Given the description of an element on the screen output the (x, y) to click on. 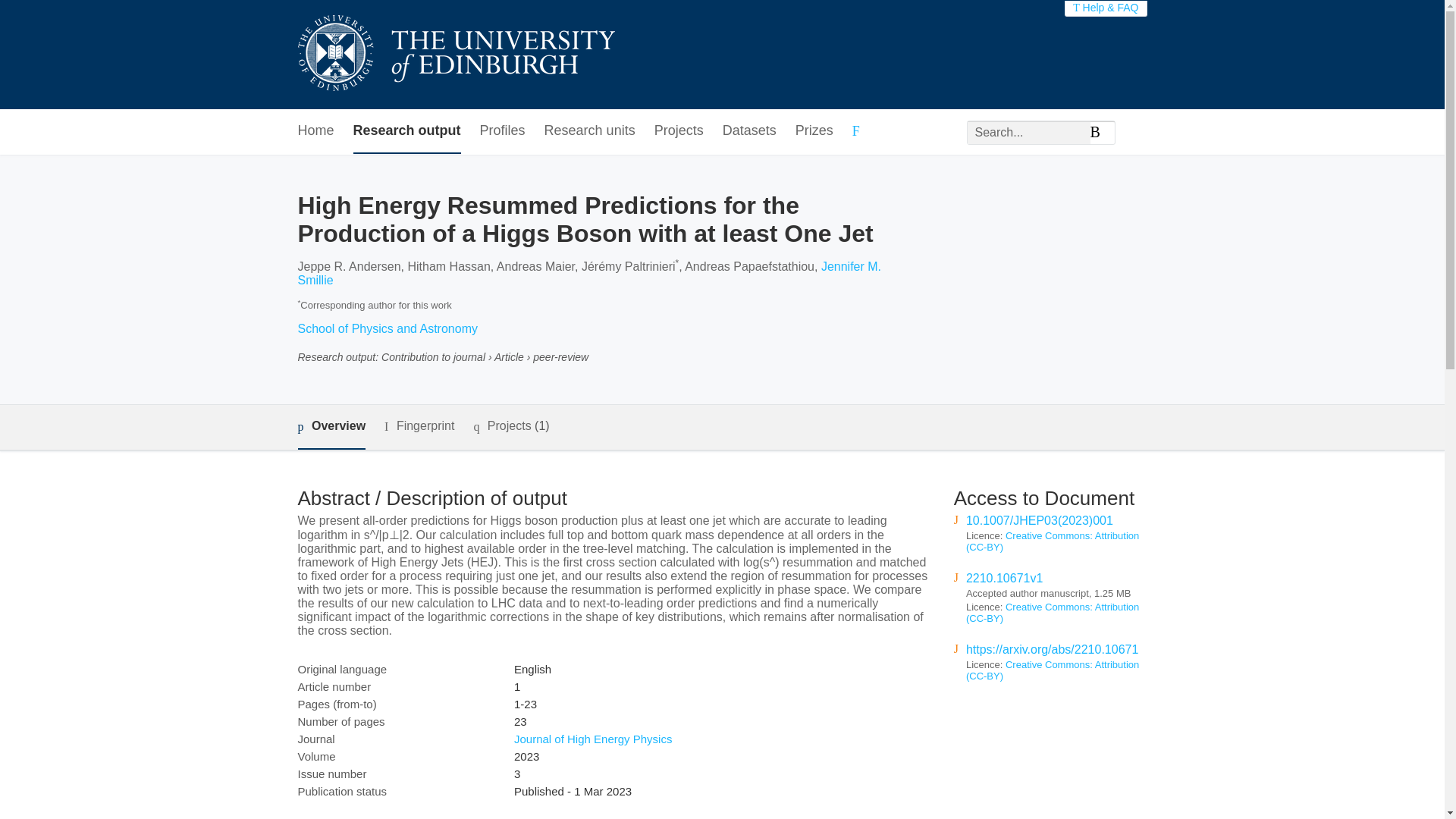
Projects (678, 130)
Jennifer M. Smillie (588, 273)
Datasets (749, 130)
Overview (331, 426)
Research units (589, 130)
University of Edinburgh Research Explorer Home (455, 54)
School of Physics and Astronomy (387, 328)
Fingerprint (419, 425)
Research output (407, 130)
